Given the description of an element on the screen output the (x, y) to click on. 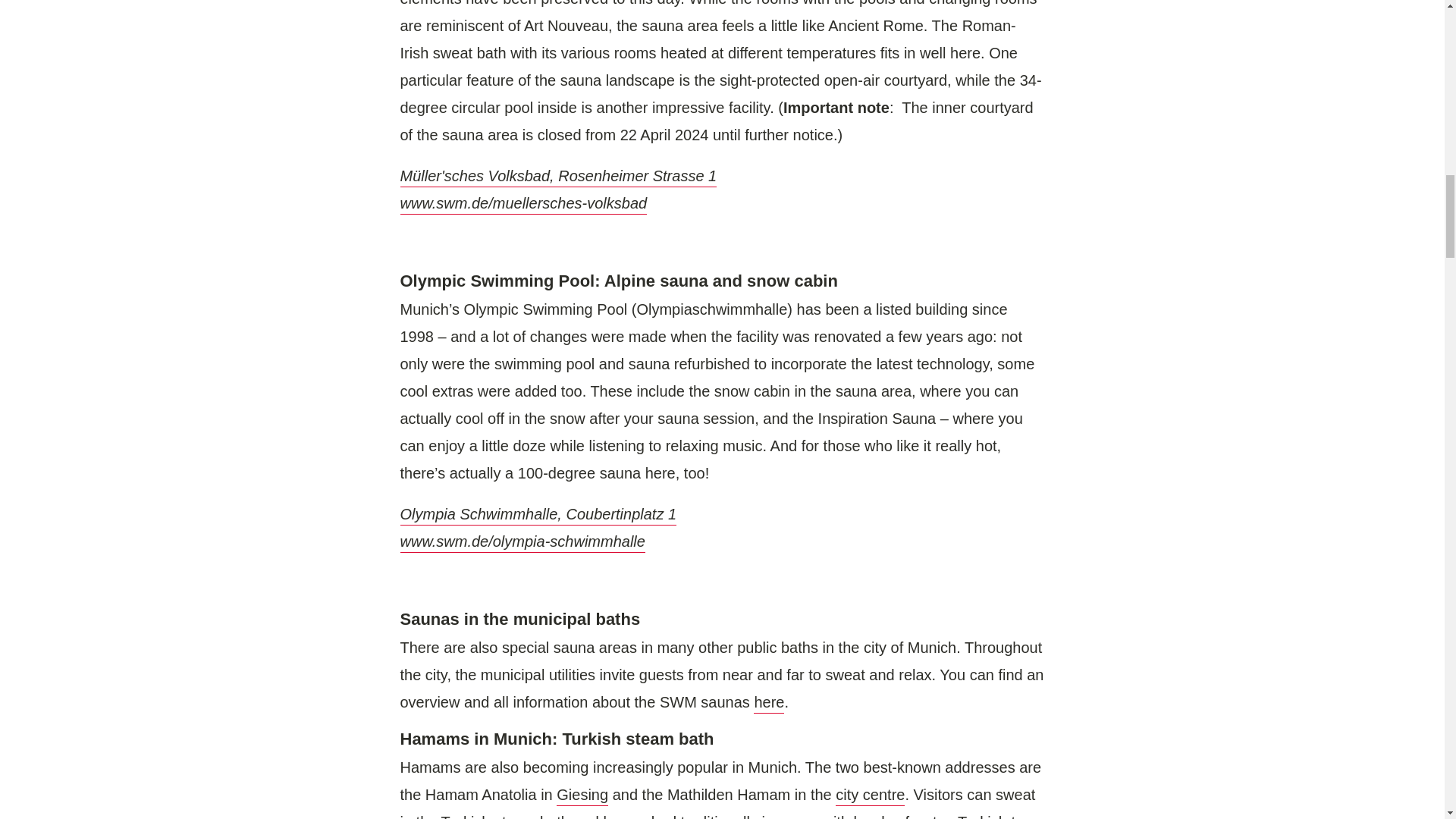
Website SWM (769, 703)
City districts: Munich city centre (869, 795)
Google Maps Olympia Schwimmhalle (538, 515)
Local love: Giesing (582, 795)
